Given the description of an element on the screen output the (x, y) to click on. 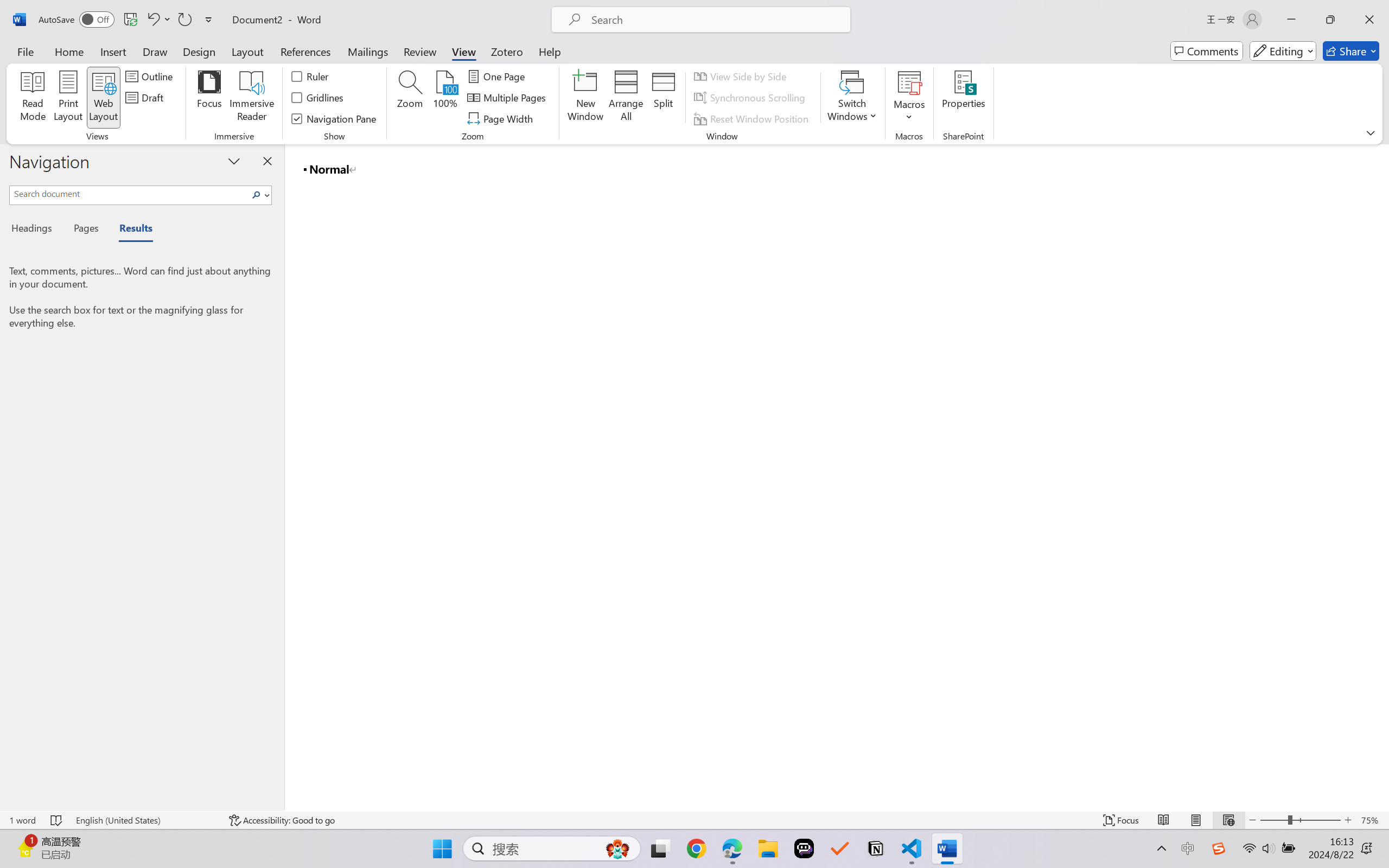
Undo <ApplyStyleToDoc>b__0 (152, 19)
Word Count 1 word (21, 819)
Design (199, 51)
Mode (1283, 50)
Synchronous Scrolling (751, 97)
Class: NetUIScrollBar (1382, 477)
Gridlines (317, 97)
One Page (497, 75)
Switch Windows (852, 97)
Ruler (309, 75)
Undo <ApplyStyleToDoc>b__0 (158, 19)
